Given the description of an element on the screen output the (x, y) to click on. 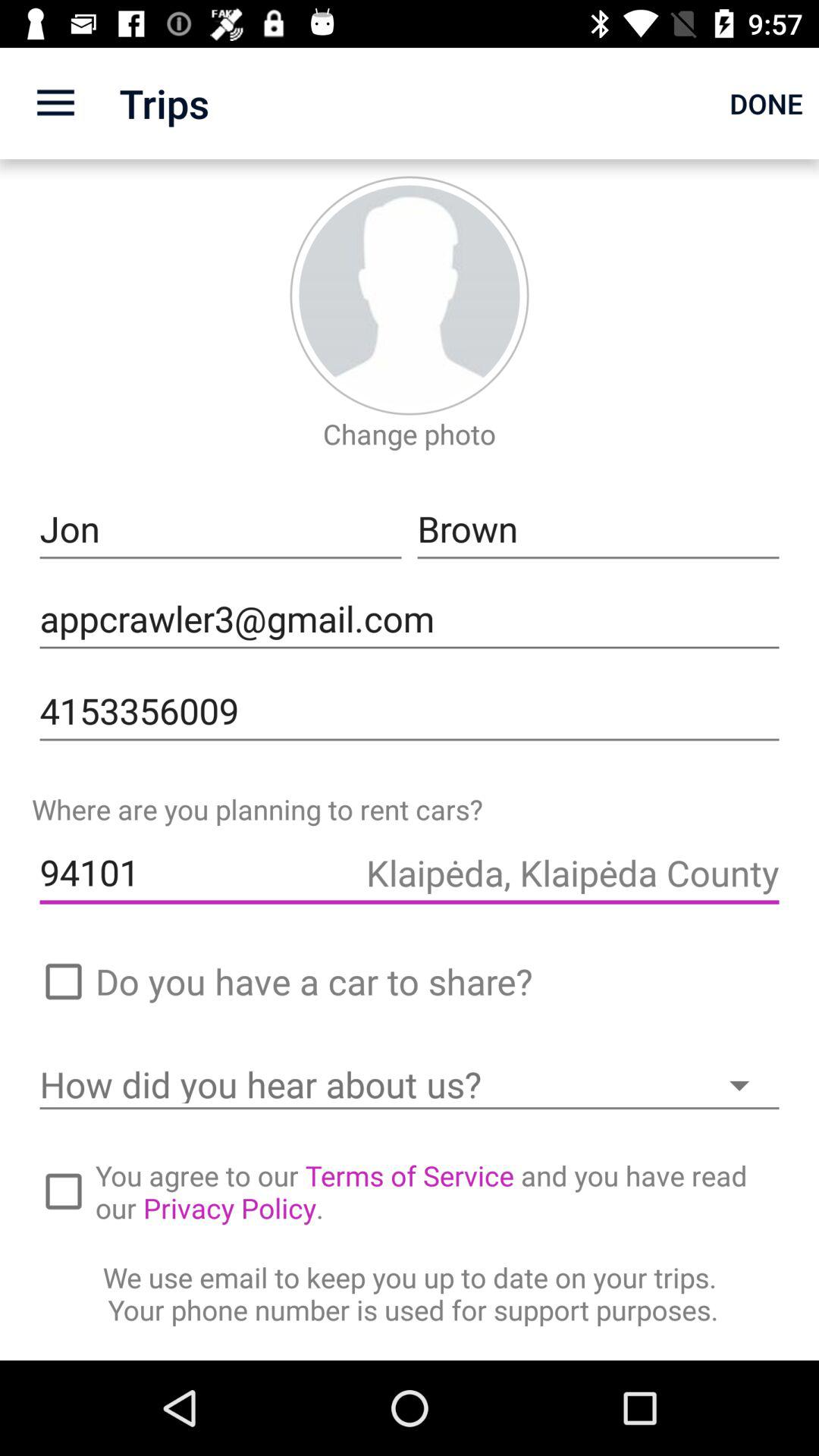
open the icon next to jon icon (598, 529)
